Given the description of an element on the screen output the (x, y) to click on. 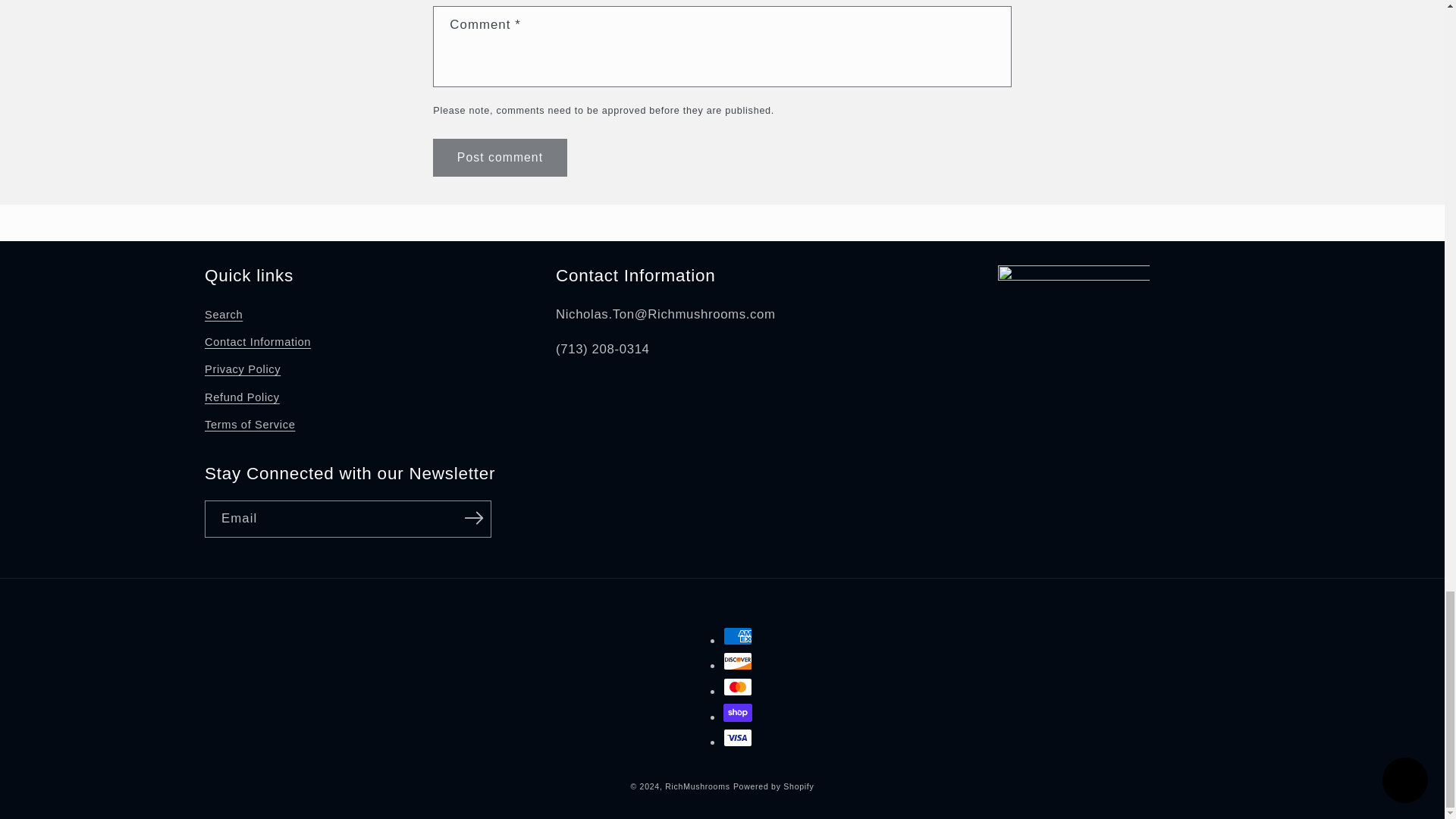
Post comment (499, 157)
Visa (737, 737)
Post comment (499, 157)
Shop Pay (737, 712)
Mastercard (737, 687)
Privacy Policy (243, 370)
Discover (737, 660)
Search (224, 317)
American Express (737, 636)
Contact Information (258, 342)
